Given the description of an element on the screen output the (x, y) to click on. 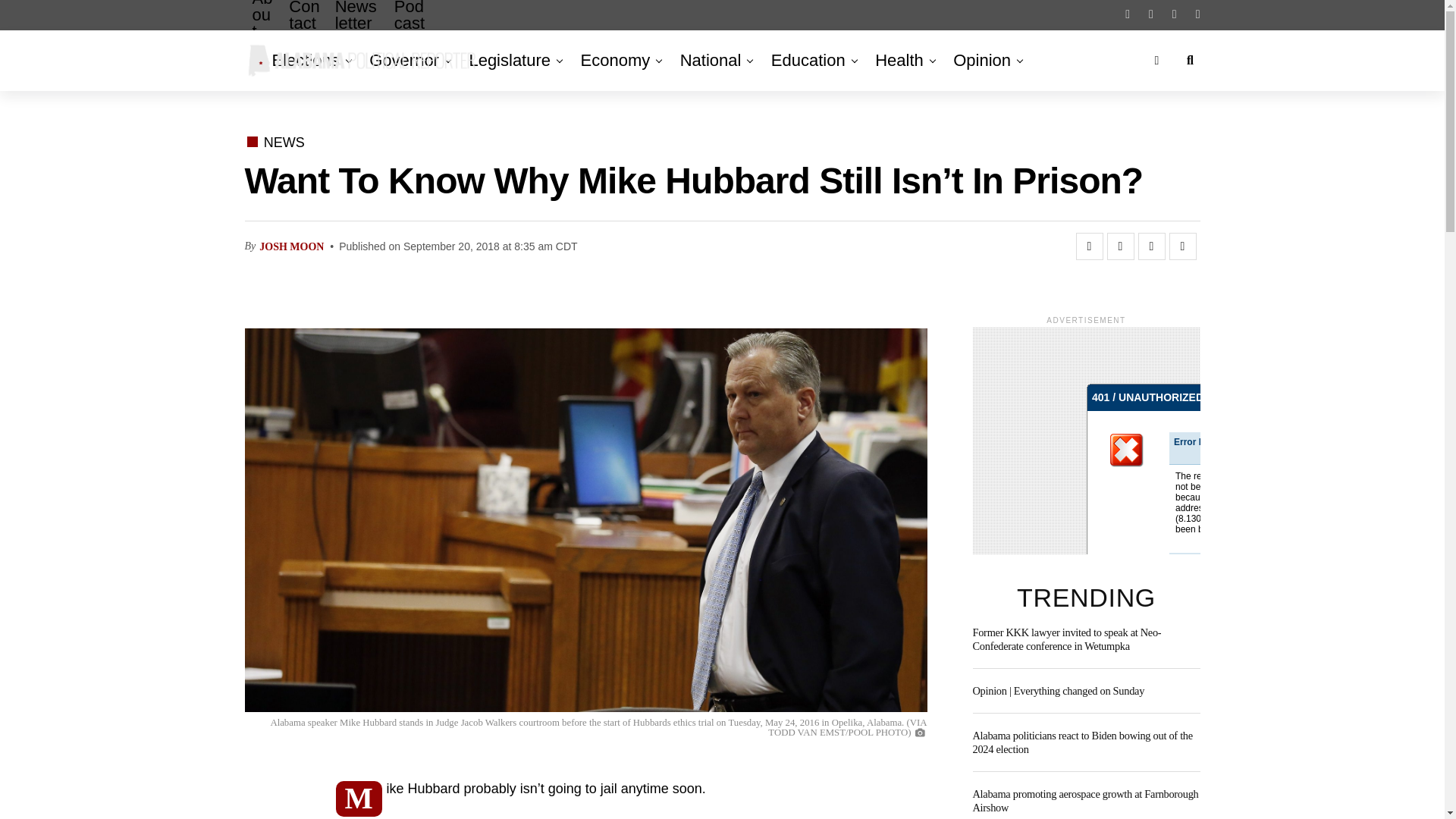
Tweet This Post (1120, 246)
Newsletter (357, 27)
Posts by Josh Moon (291, 246)
Elections (308, 60)
Share on Facebook (1088, 246)
Governor (403, 60)
Share on Flipboard (1150, 246)
